Given the description of an element on the screen output the (x, y) to click on. 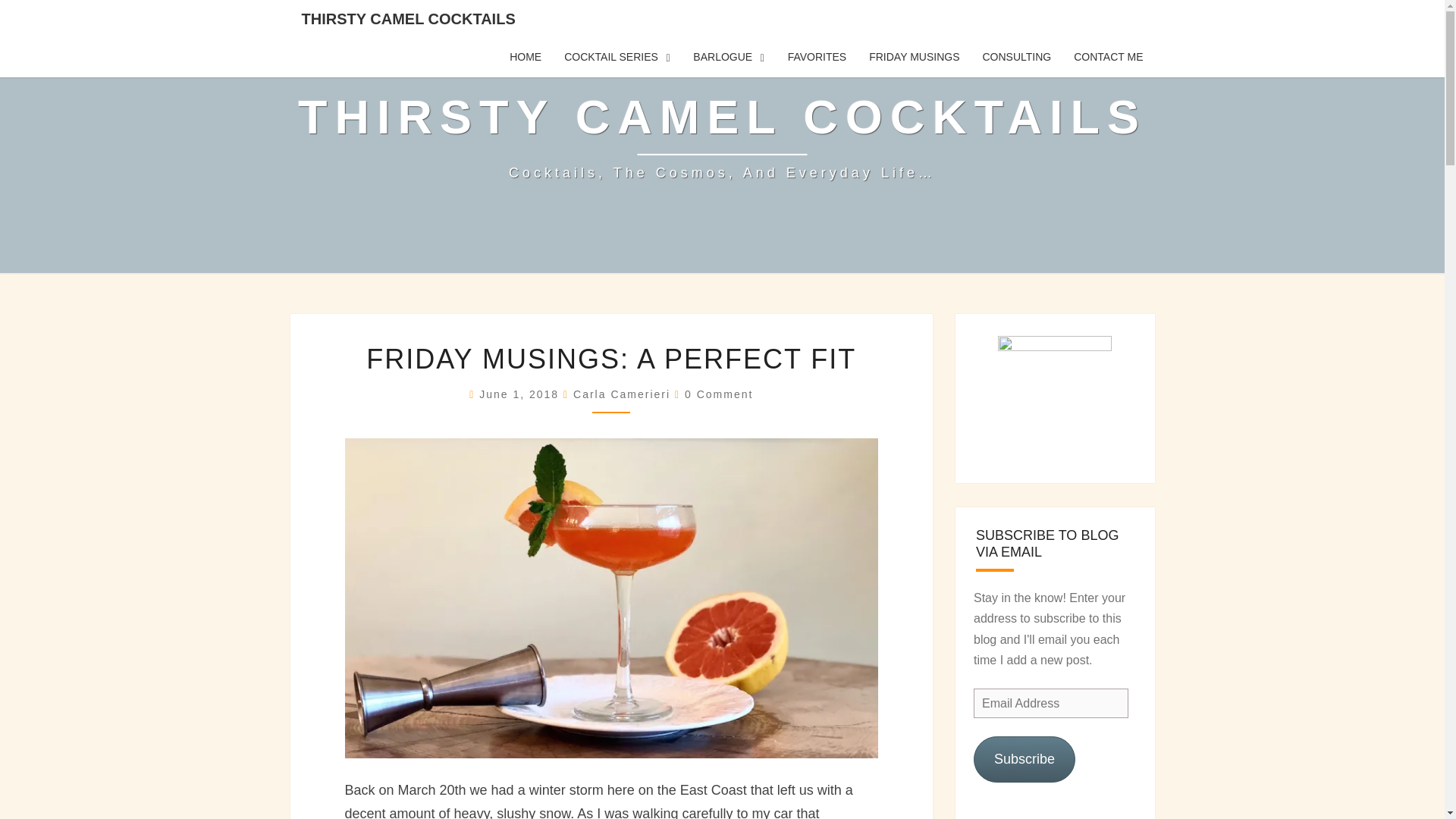
THIRSTY CAMEL COCKTAILS (407, 18)
BARLOGUE (728, 56)
CONTACT ME (1108, 56)
HOME (525, 56)
June 1, 2018 (521, 394)
3:03 am (521, 394)
Carla Camerieri (621, 394)
0 Comment (718, 394)
View all posts by Carla Camerieri (621, 394)
COCKTAIL SERIES (617, 56)
